Given the description of an element on the screen output the (x, y) to click on. 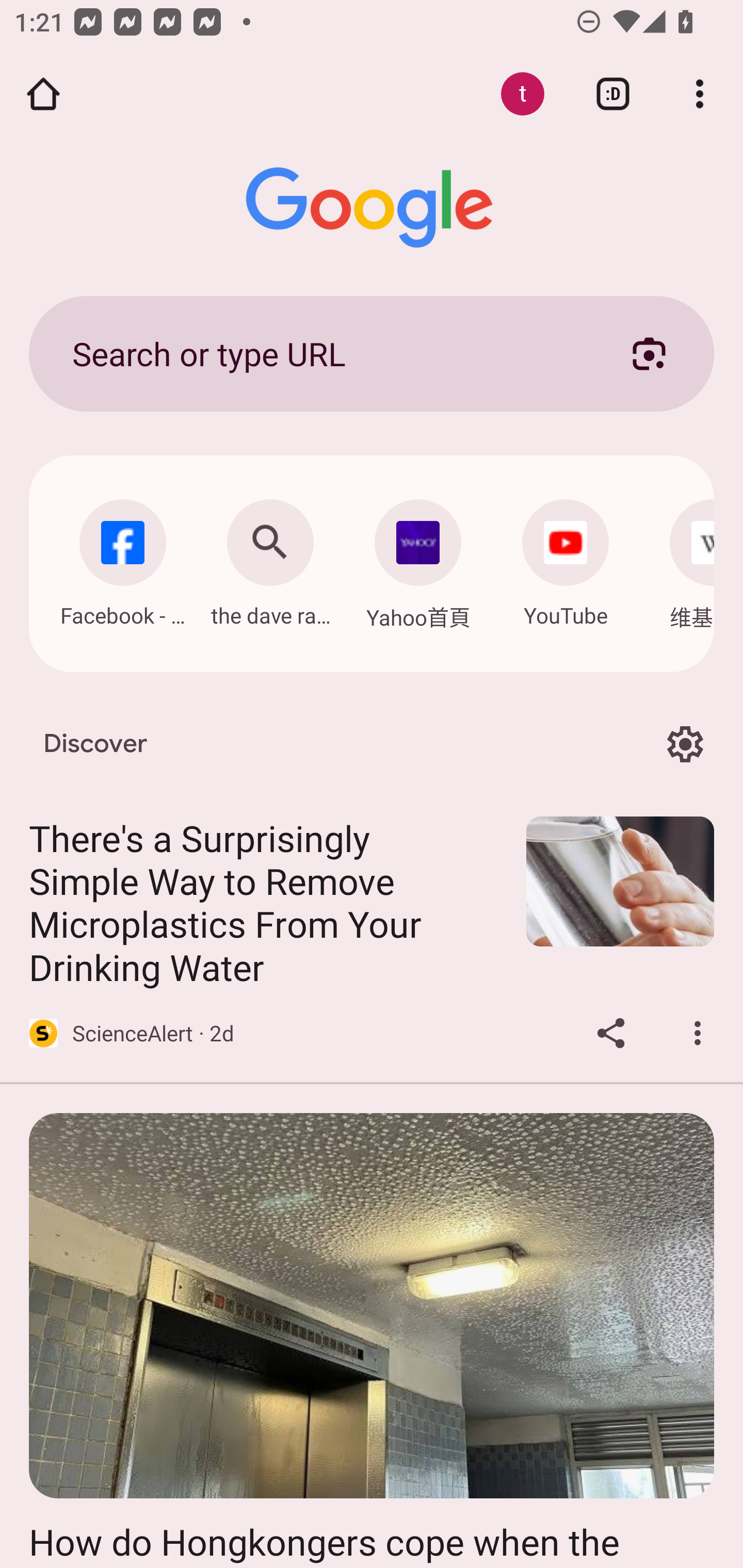
Open the home page (43, 93)
Switch or close tabs (612, 93)
Customize and control Google Chrome (699, 93)
Search or type URL (327, 353)
Search with your camera using Google Lens (648, 353)
Search: the dave ramsey show the dave ramsey show (270, 558)
Navigate: Yahoo首頁: hk.mobi.yahoo.com Yahoo首頁 (417, 558)
Navigate: YouTube: m.youtube.com YouTube (565, 558)
Options for Discover (684, 743)
